Given the description of an element on the screen output the (x, y) to click on. 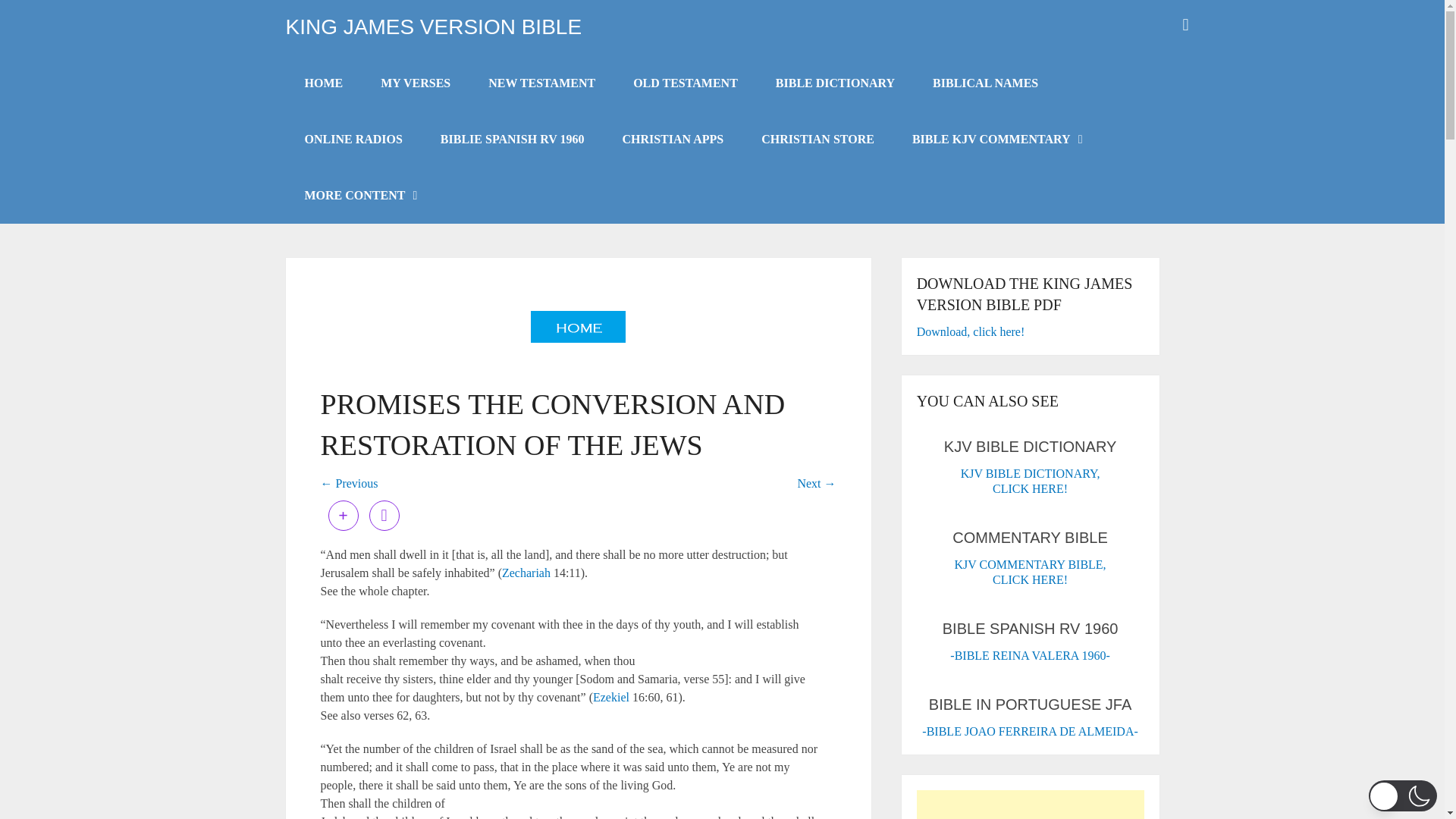
OLD TESTAMENT (685, 83)
Ezekiel (610, 697)
Zechariah (526, 572)
Zechariah (526, 572)
HOME (323, 83)
KING JAMES VERSION BIBLE (432, 26)
BIBLE DICTIONARY (835, 83)
BIBLIE SPANISH RV 1960 (513, 139)
Ezekiel (610, 697)
MY VERSES (414, 83)
